Given the description of an element on the screen output the (x, y) to click on. 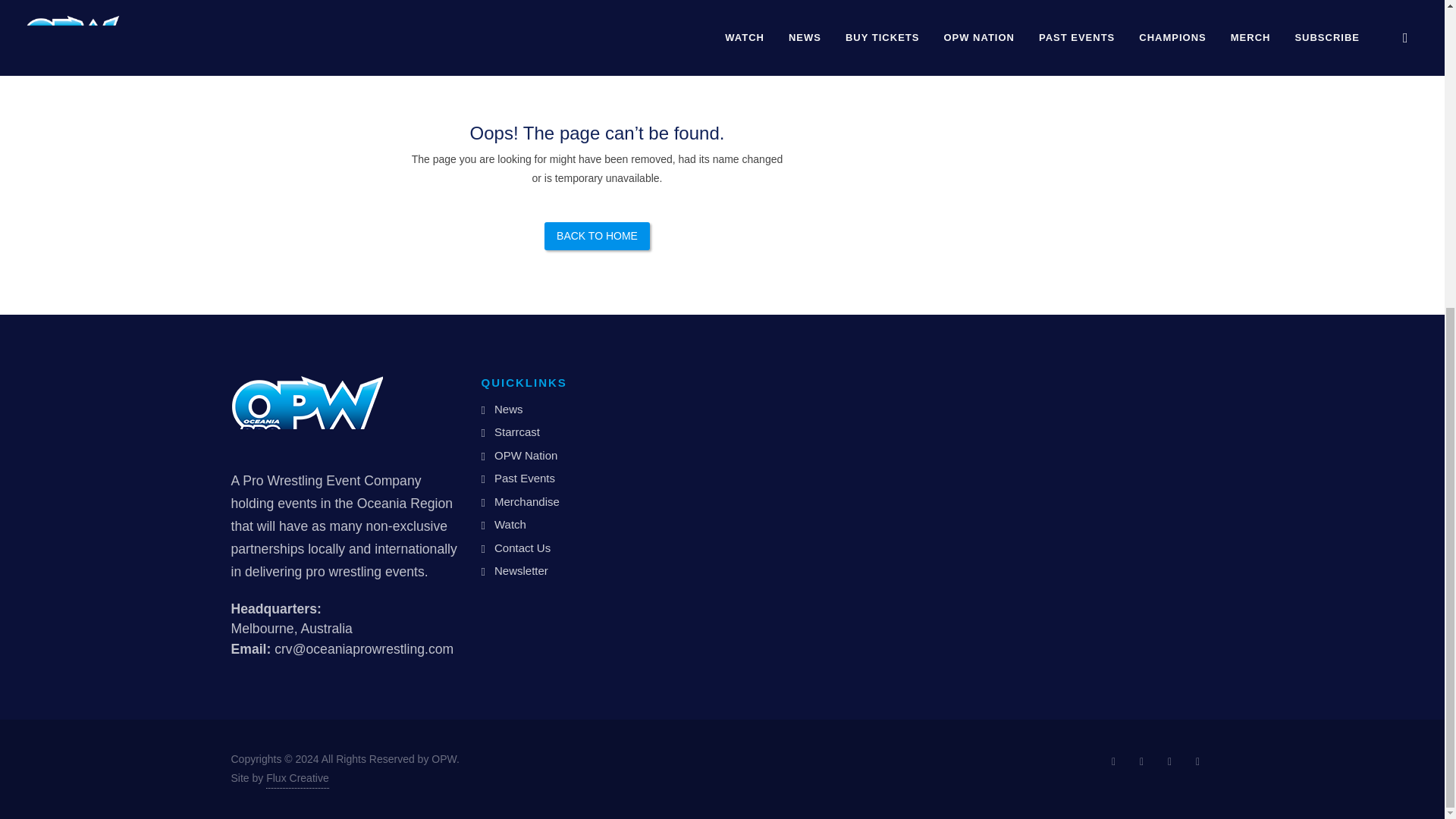
OPW Nation (521, 456)
Contact Us (518, 548)
Starrcast (512, 432)
BACK TO HOME (596, 235)
Merchandise (523, 502)
Past Events (520, 478)
Flux Creative (297, 778)
Watch (506, 524)
News (504, 409)
Newsletter (517, 570)
